Given the description of an element on the screen output the (x, y) to click on. 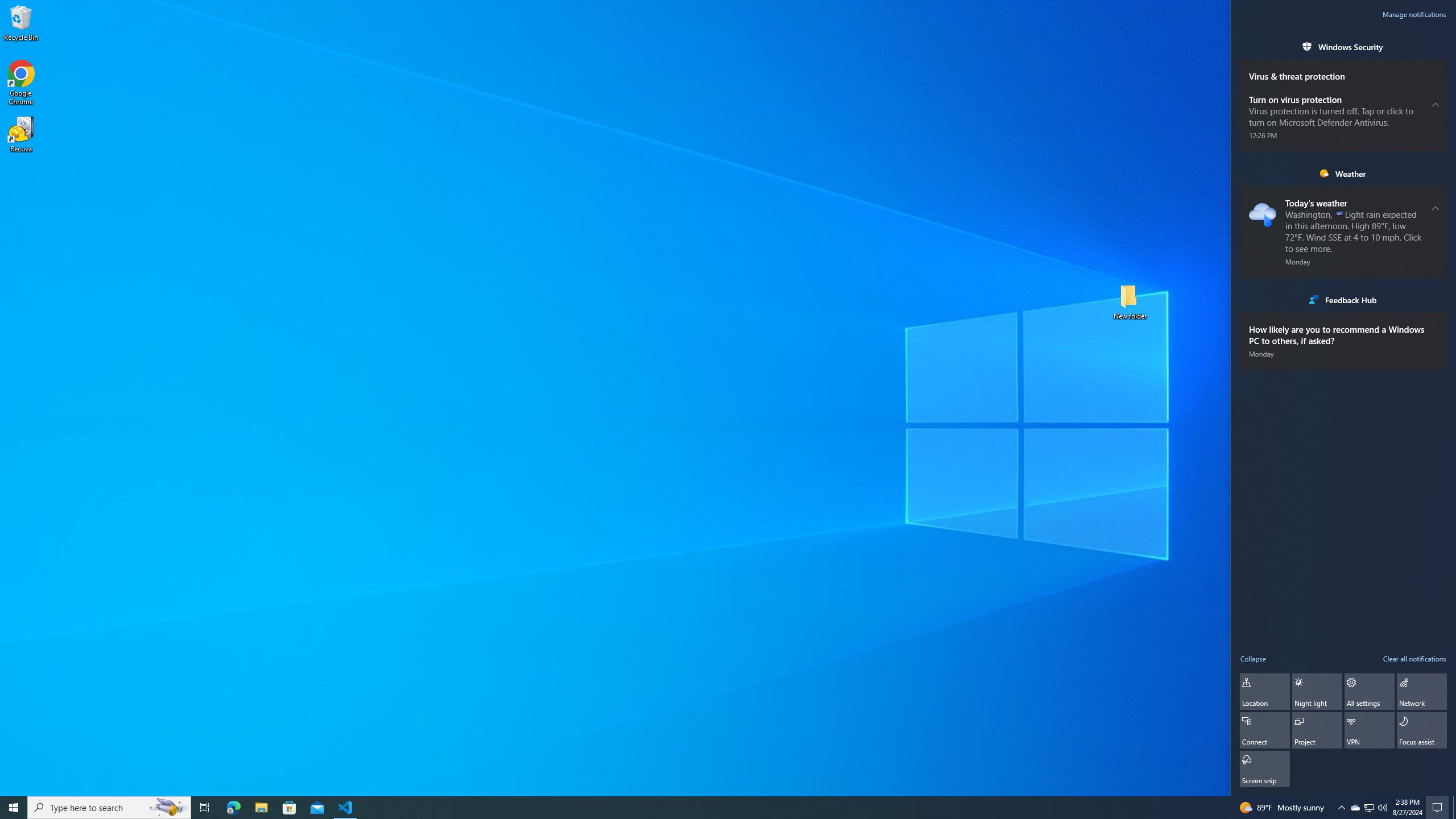
Focus assist (1368, 807)
Type here to search (1421, 729)
Running applications (108, 807)
All settings (717, 807)
Night light (1368, 691)
Project (1317, 691)
Clear all notifications (1317, 729)
Connect (1355, 807)
